Given the description of an element on the screen output the (x, y) to click on. 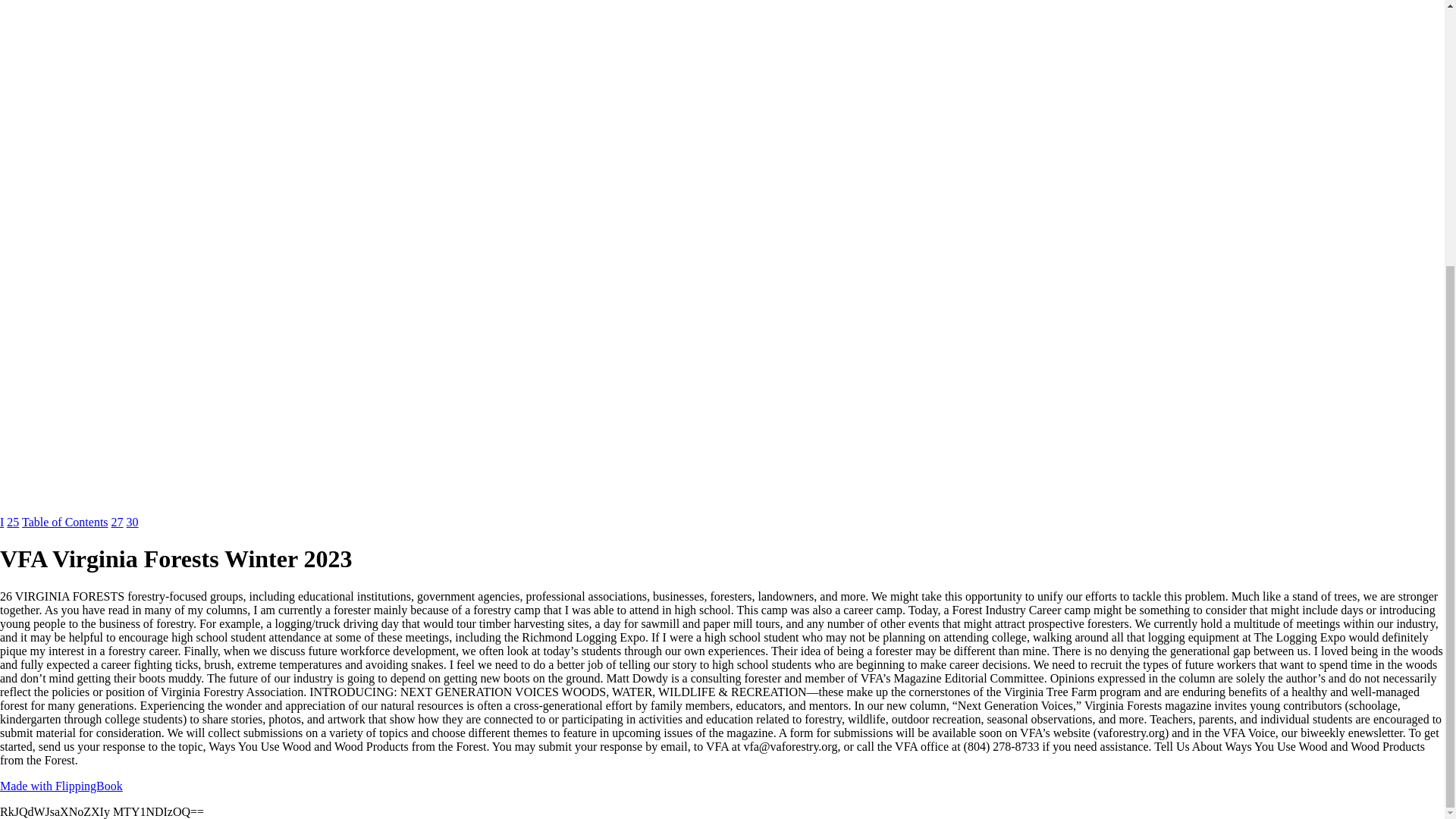
Made with FlippingBook (61, 785)
Resource Review (117, 521)
I (2, 521)
Table of Contents (64, 521)
25 (12, 521)
27 (117, 521)
WORKFORCEDEVELOPMENT (2, 521)
Table of Contents (64, 521)
Made with FlippingBook (61, 785)
30 (132, 521)
Wanted: A Few Good Foresters (12, 521)
